Given the description of an element on the screen output the (x, y) to click on. 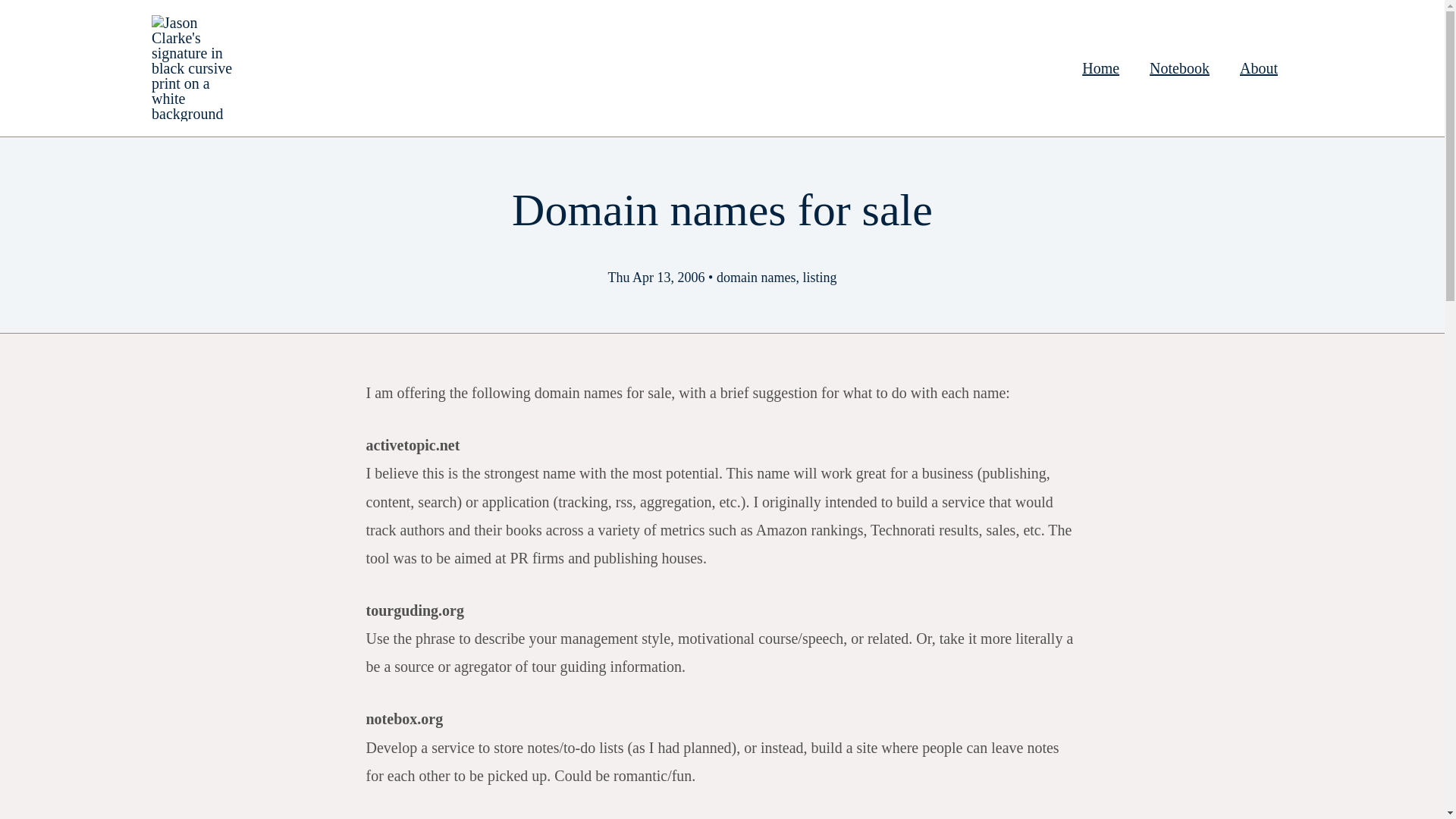
Home (1100, 67)
Notebook (1179, 67)
About Jason Clarke (1258, 67)
domain names (755, 277)
listing (818, 277)
About (1258, 67)
